Given the description of an element on the screen output the (x, y) to click on. 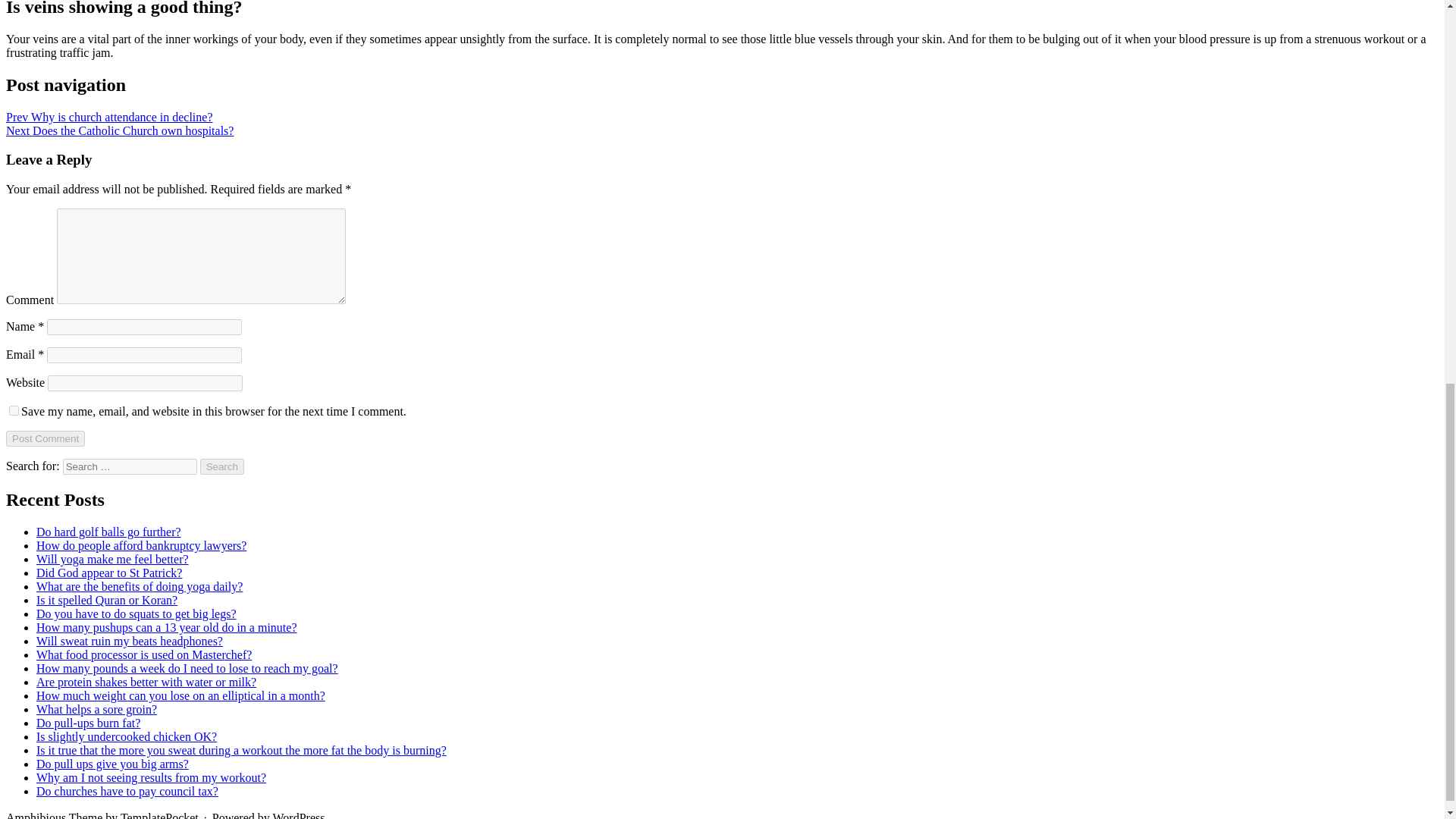
Search for: (129, 466)
Will yoga make me feel better? (112, 558)
Do pull-ups burn fat? (87, 722)
How much weight can you lose on an elliptical in a month? (180, 695)
What helps a sore groin? (96, 708)
Did God appear to St Patrick? (109, 572)
Do churches have to pay council tax? (127, 790)
Will sweat ruin my beats headphones? (129, 640)
What food processor is used on Masterchef? (143, 654)
Are protein shakes better with water or milk? (146, 681)
Post Comment (44, 438)
Search (222, 466)
yes (13, 410)
How many pounds a week do I need to lose to reach my goal? (186, 667)
